Given the description of an element on the screen output the (x, y) to click on. 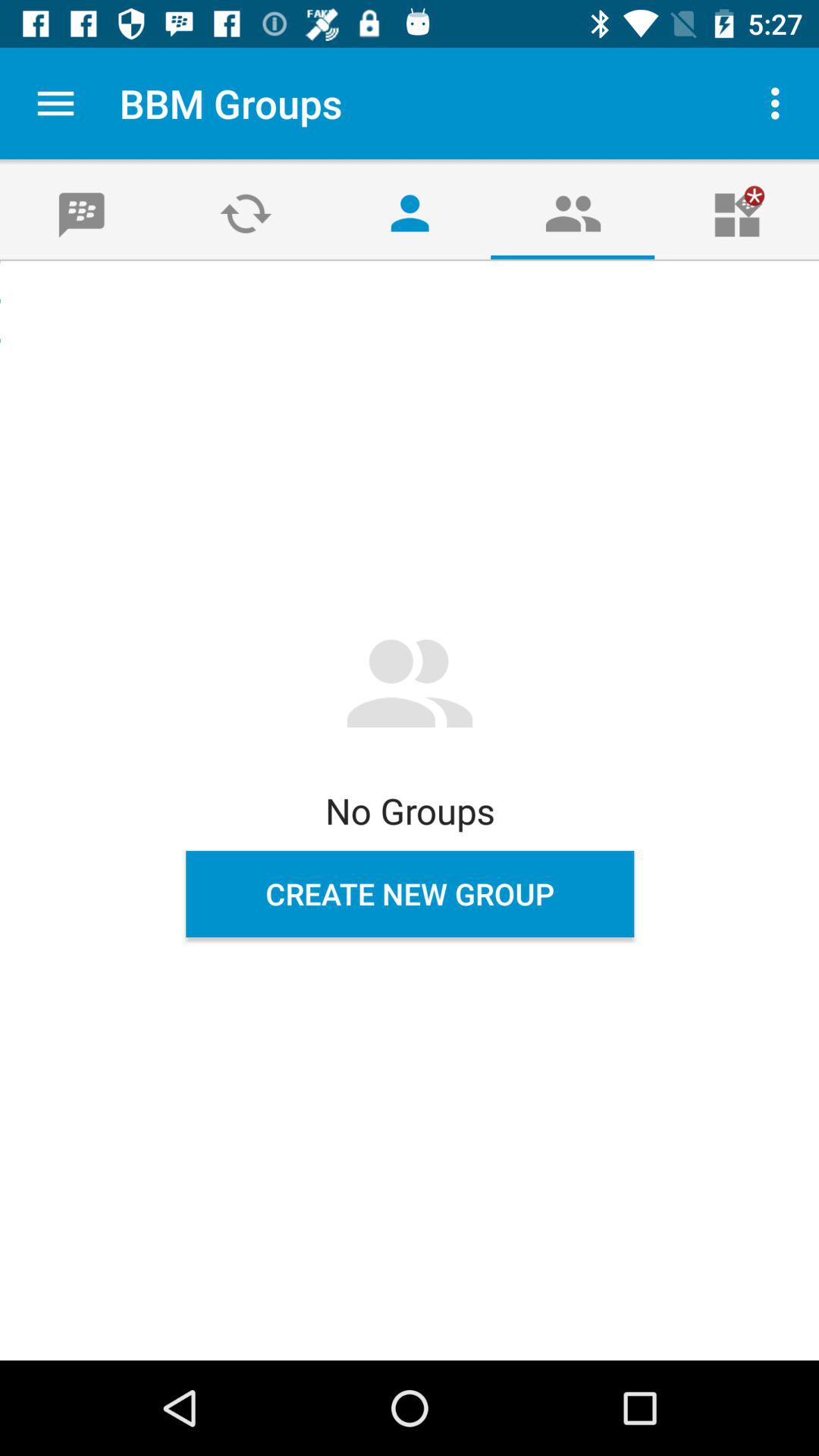
jump to the create new group item (409, 893)
